Given the description of an element on the screen output the (x, y) to click on. 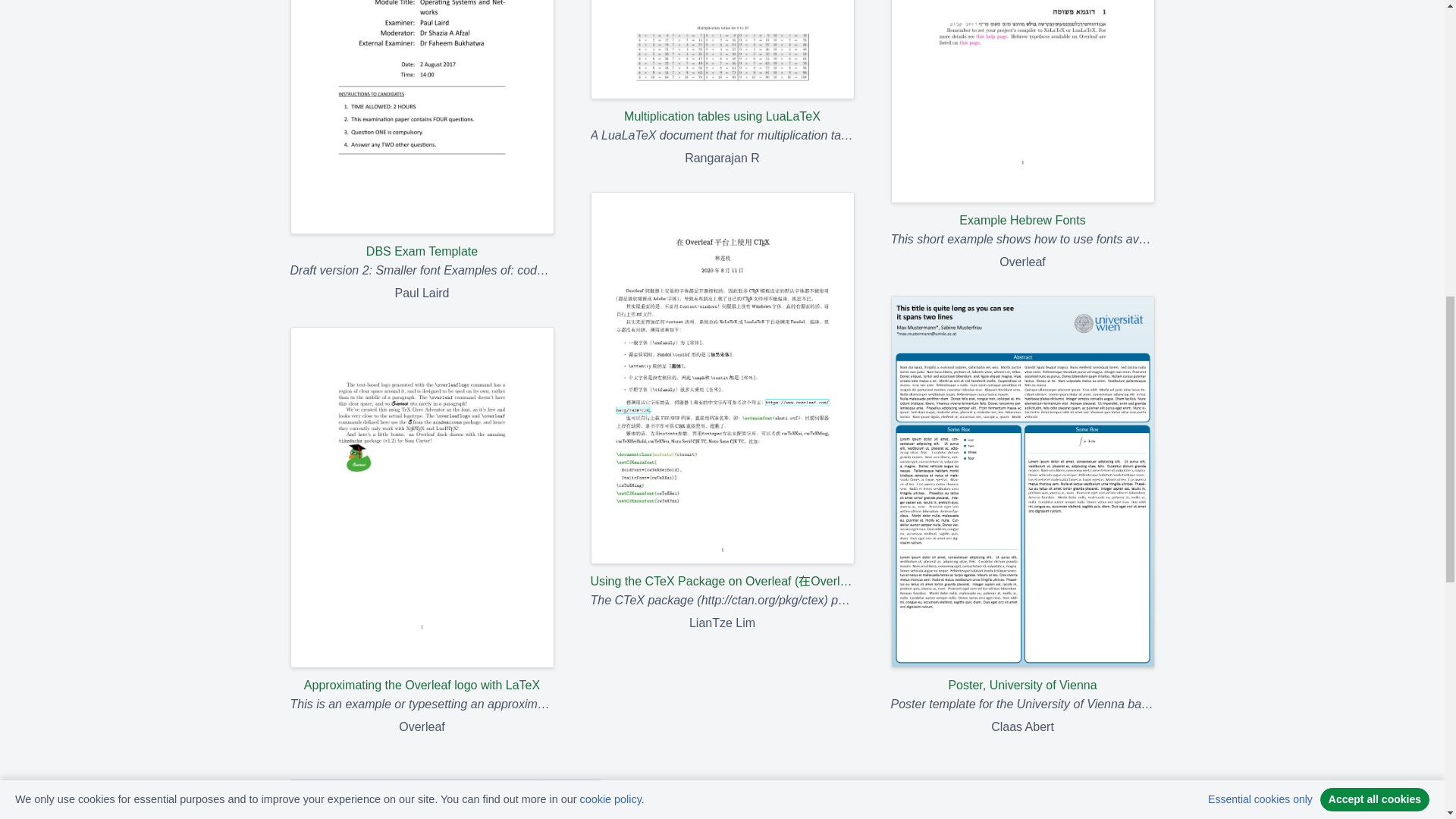
Multiplication tables using LuaLaTeX (721, 62)
4 (401, 793)
Example Hebrew Fonts (1021, 115)
3 (369, 793)
2 (337, 793)
DBS Exam Template (421, 130)
5 (432, 793)
